Given the description of an element on the screen output the (x, y) to click on. 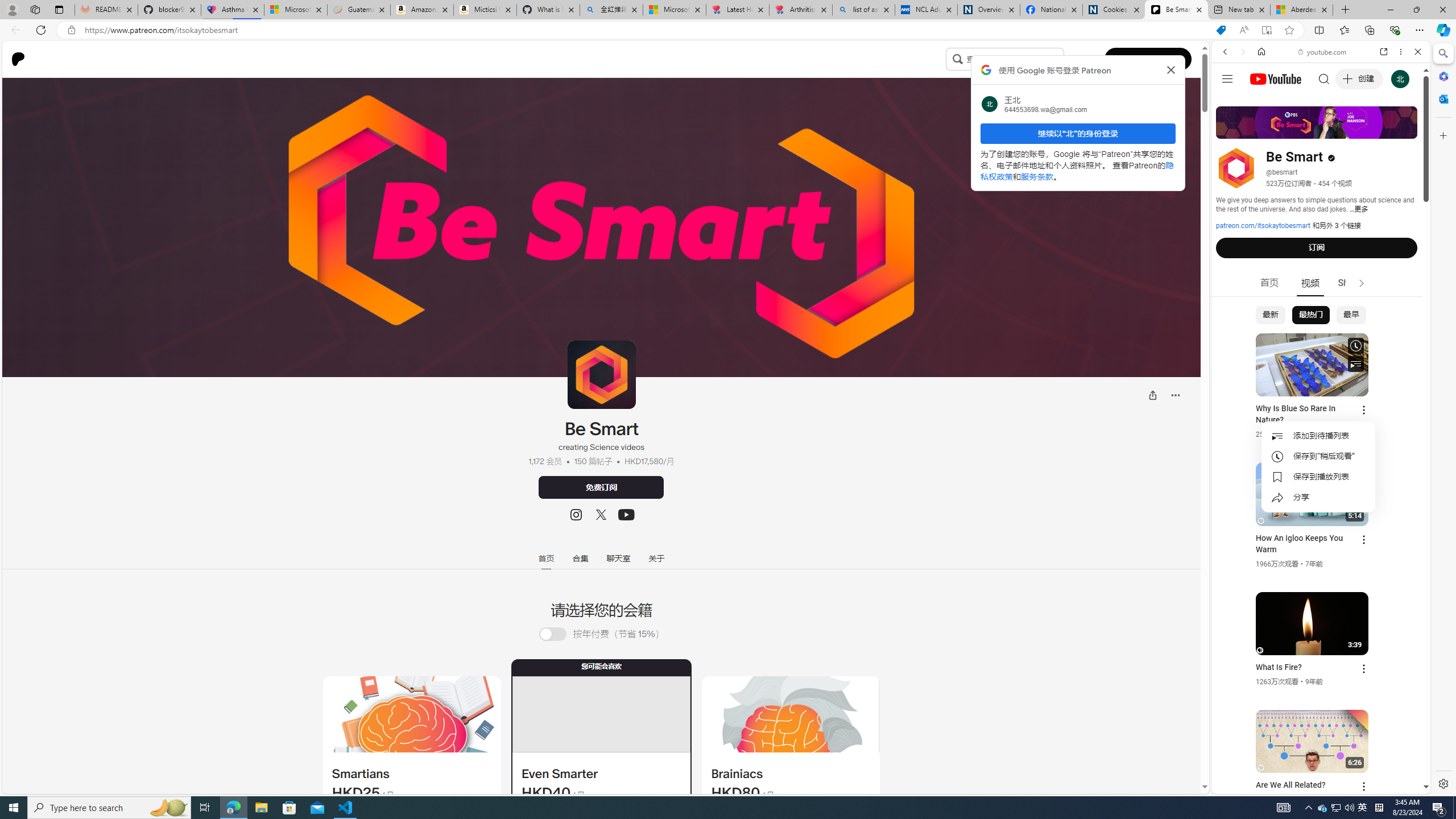
youtube.com (1322, 51)
Loading (558, 633)
